Given the description of an element on the screen output the (x, y) to click on. 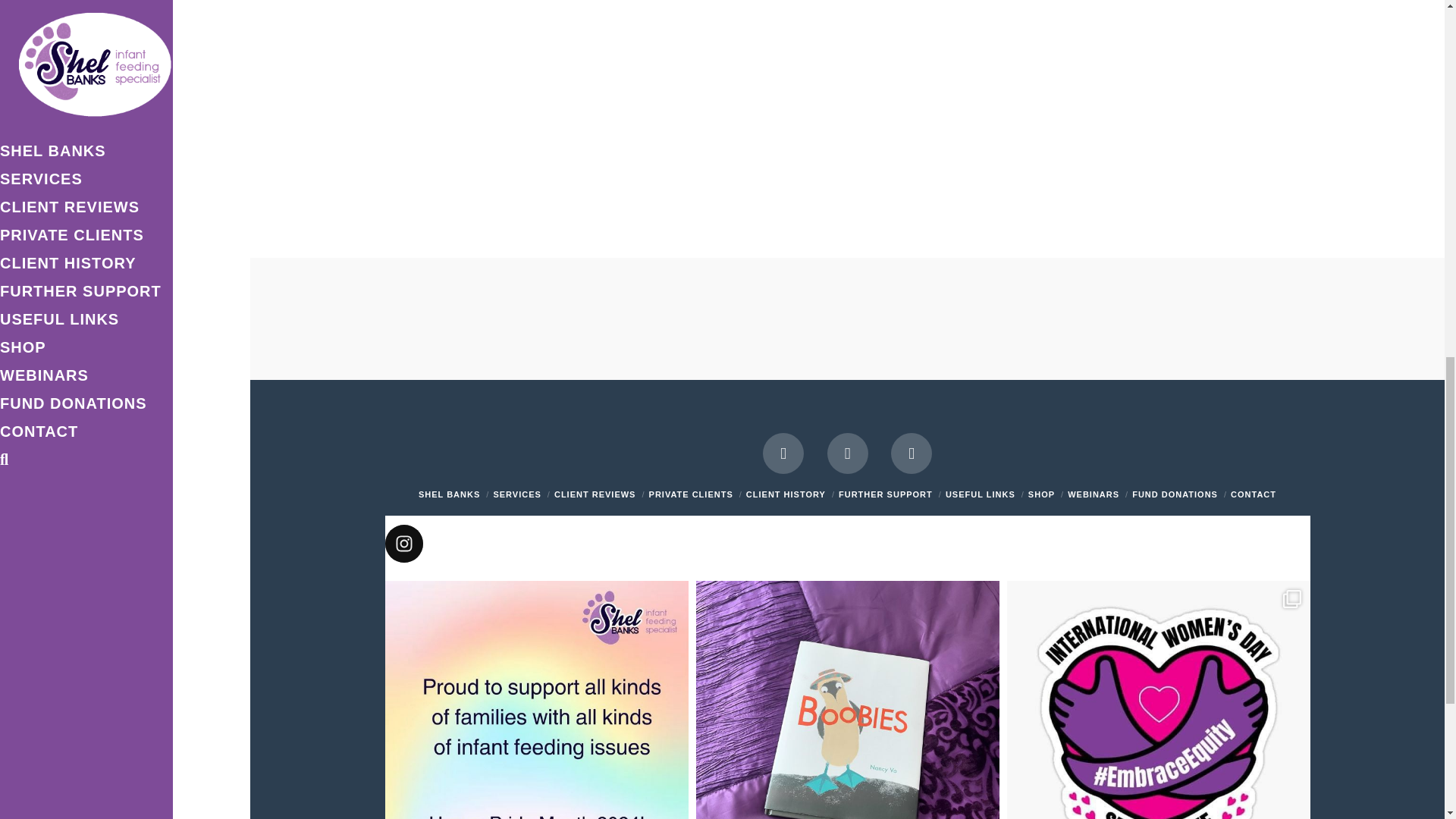
Instagram (911, 453)
Twitter (847, 453)
Facebook (782, 453)
